Given the description of an element on the screen output the (x, y) to click on. 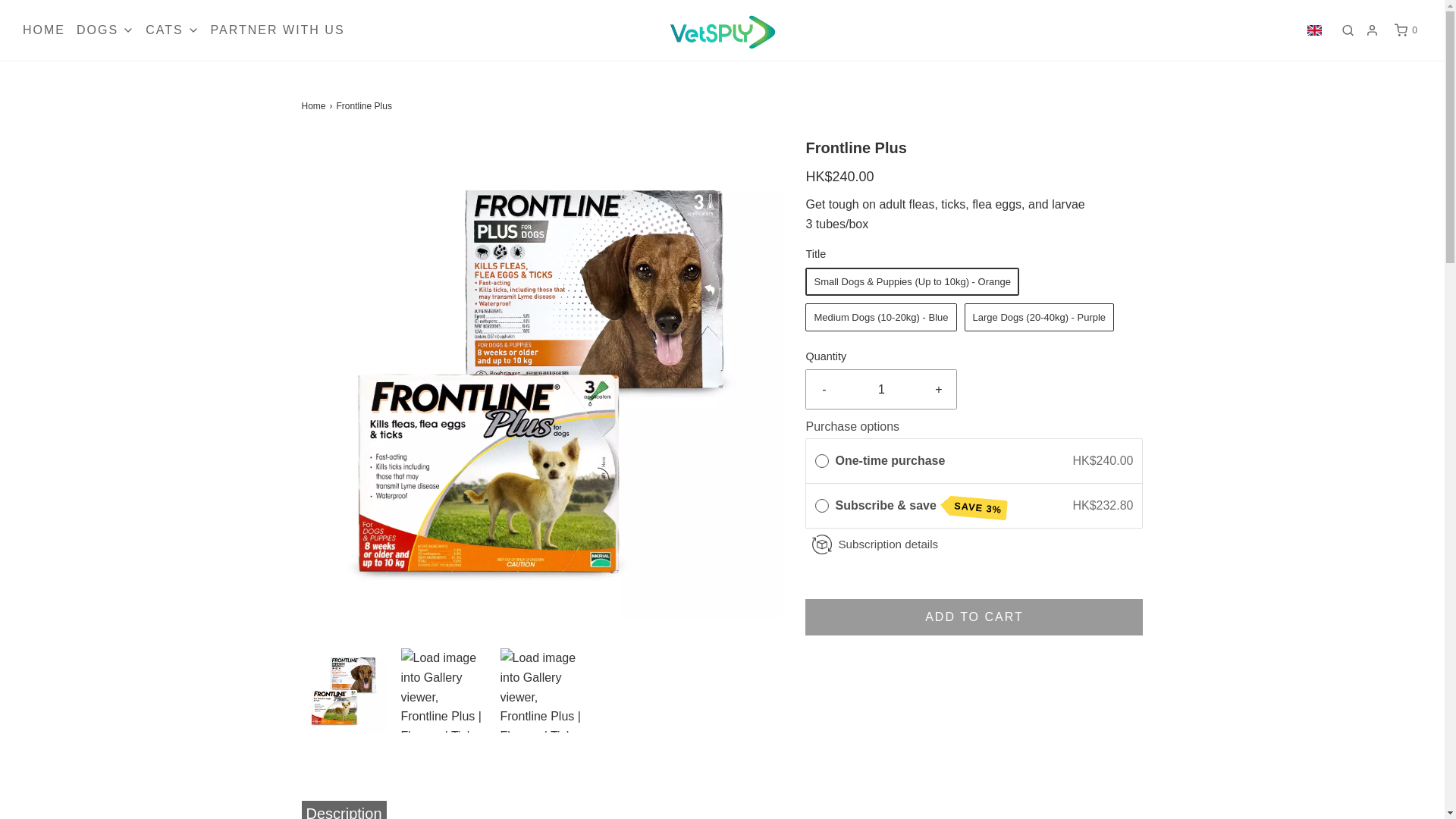
Cart (1406, 30)
DOGS (105, 30)
Back to the frontpage (315, 106)
Log in (1371, 29)
HOME (44, 30)
PARTNER WITH US (278, 30)
Search (1347, 29)
0 (1406, 30)
1 (881, 389)
CATS (171, 30)
